Given the description of an element on the screen output the (x, y) to click on. 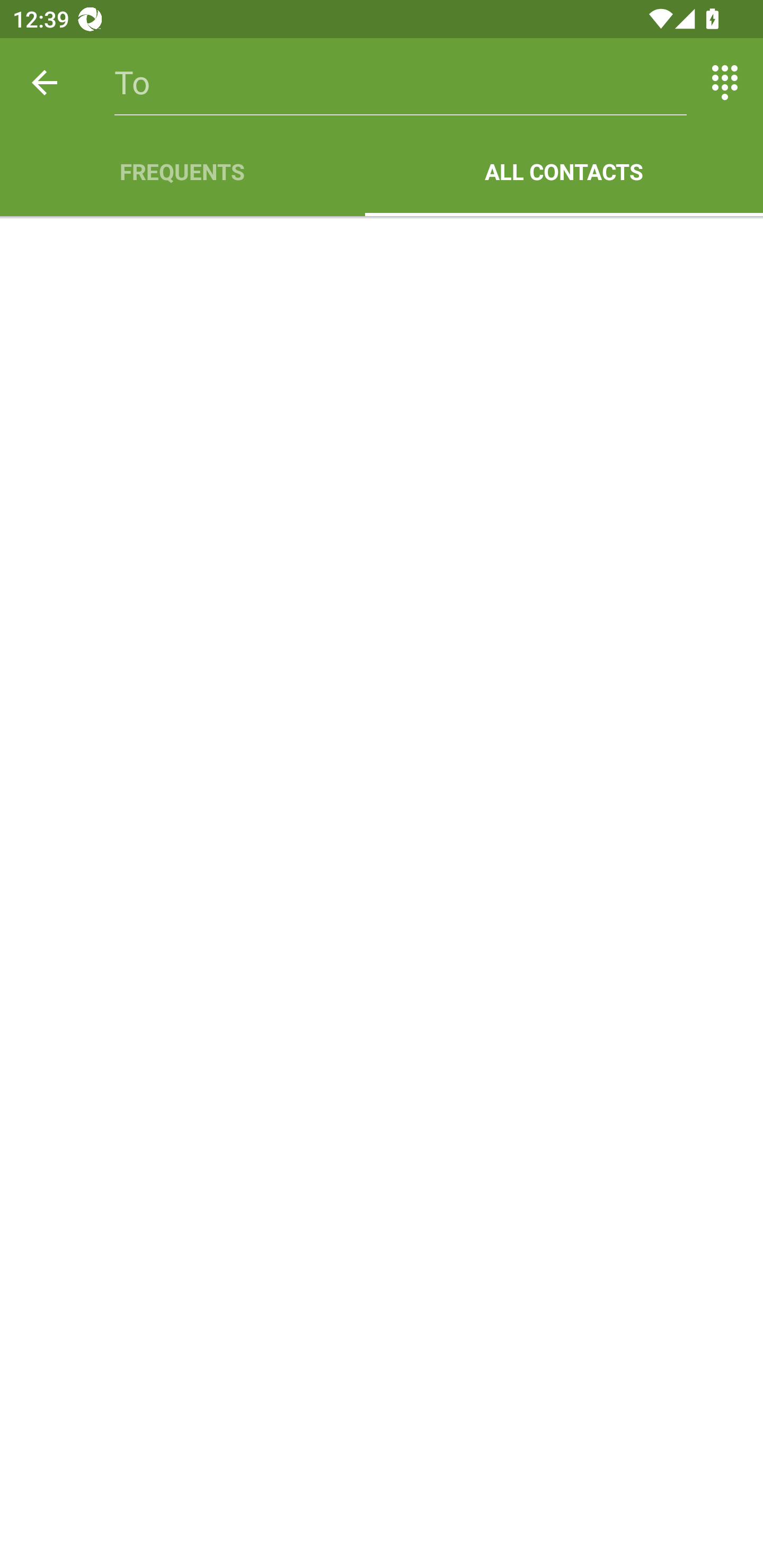
Back (44, 82)
Switch between entering text and numbers (724, 81)
To (400, 82)
FREQUENTS (182, 171)
ALL CONTACTS (563, 171)
